Given the description of an element on the screen output the (x, y) to click on. 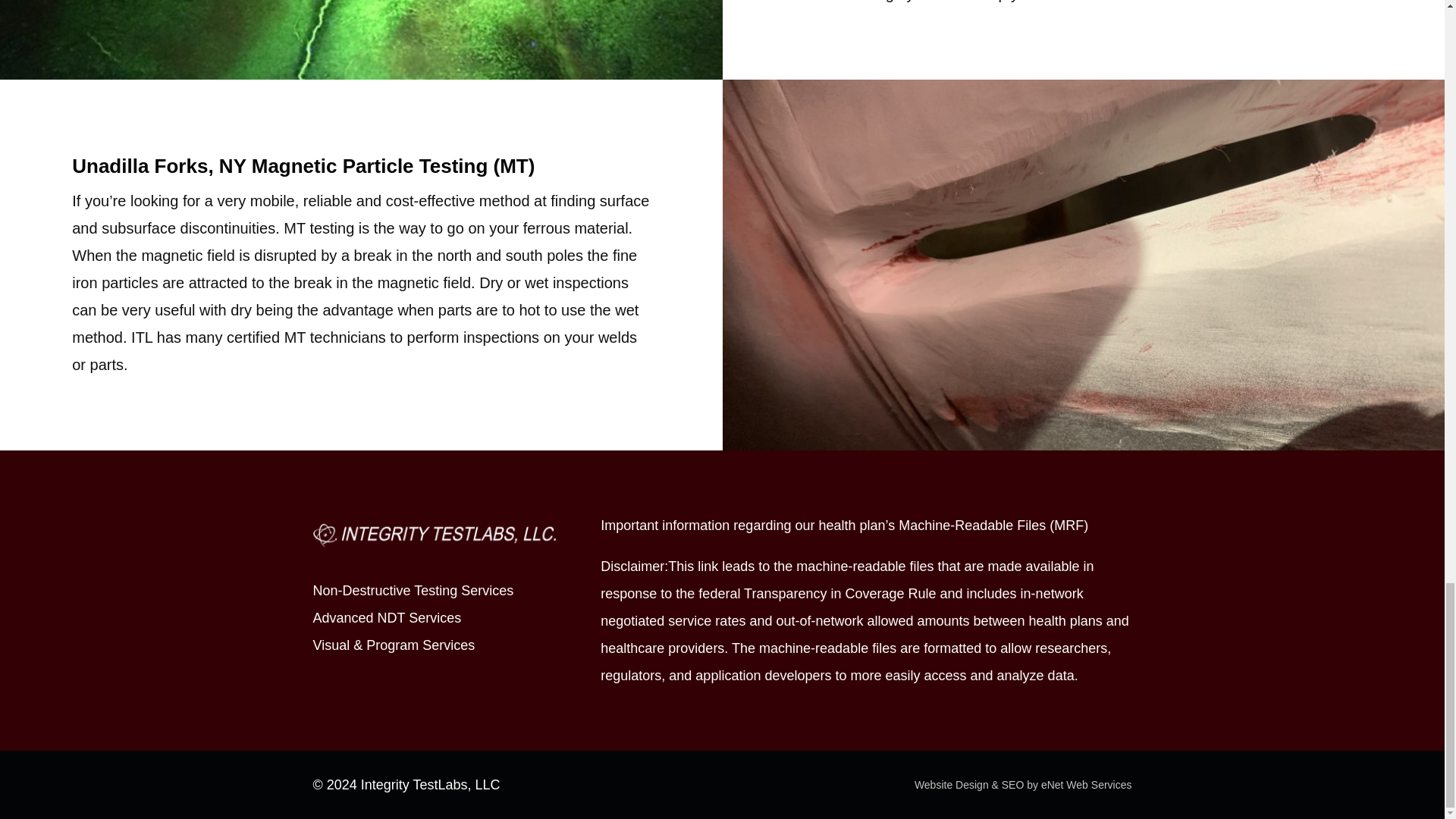
ITL-Footer (433, 532)
Unadilla Forks, NY ASNT Level III (361, 40)
